Given the description of an element on the screen output the (x, y) to click on. 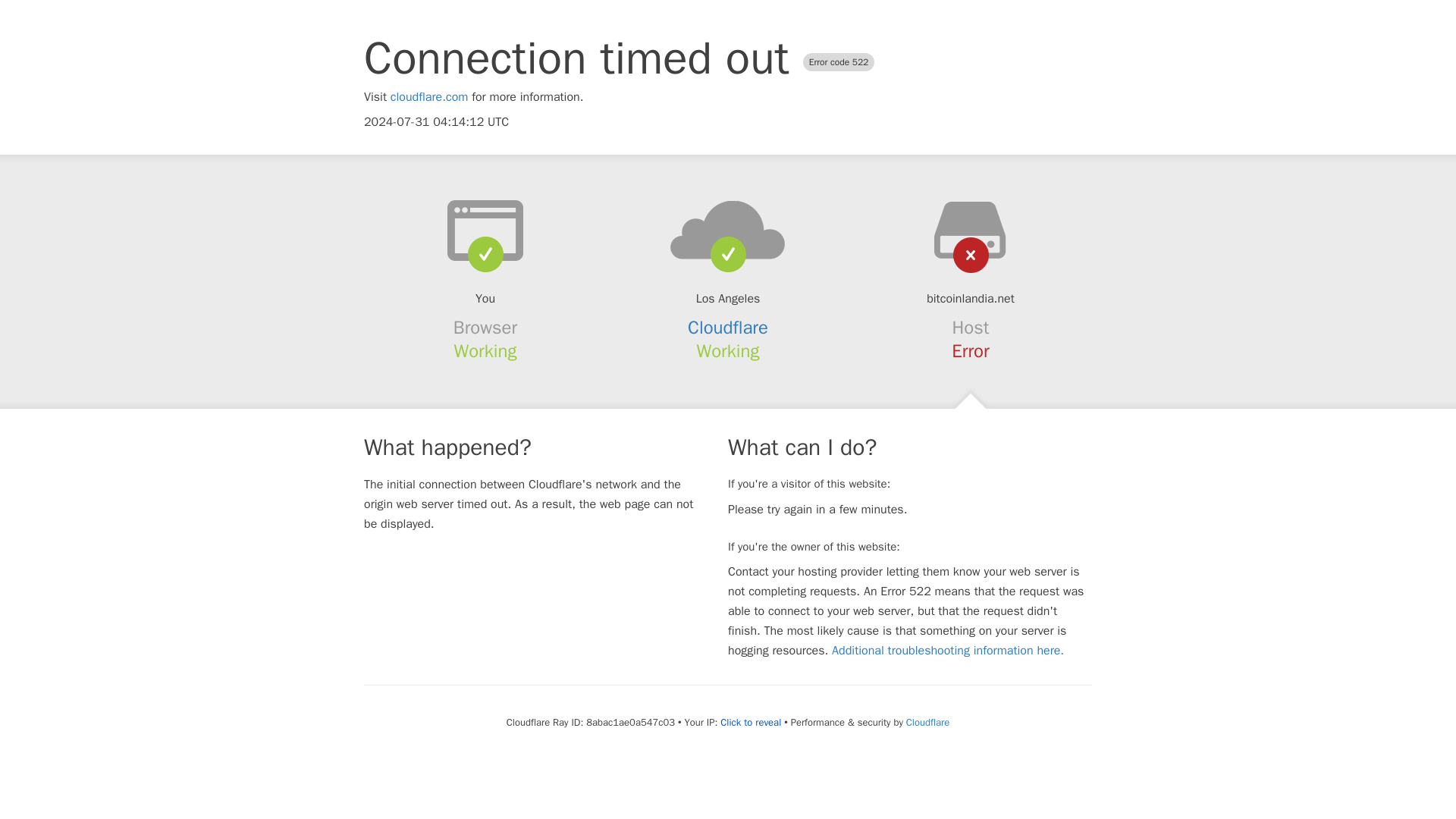
Cloudflare (727, 327)
Additional troubleshooting information here. (947, 650)
Click to reveal (750, 722)
cloudflare.com (429, 96)
Cloudflare (927, 721)
